Given the description of an element on the screen output the (x, y) to click on. 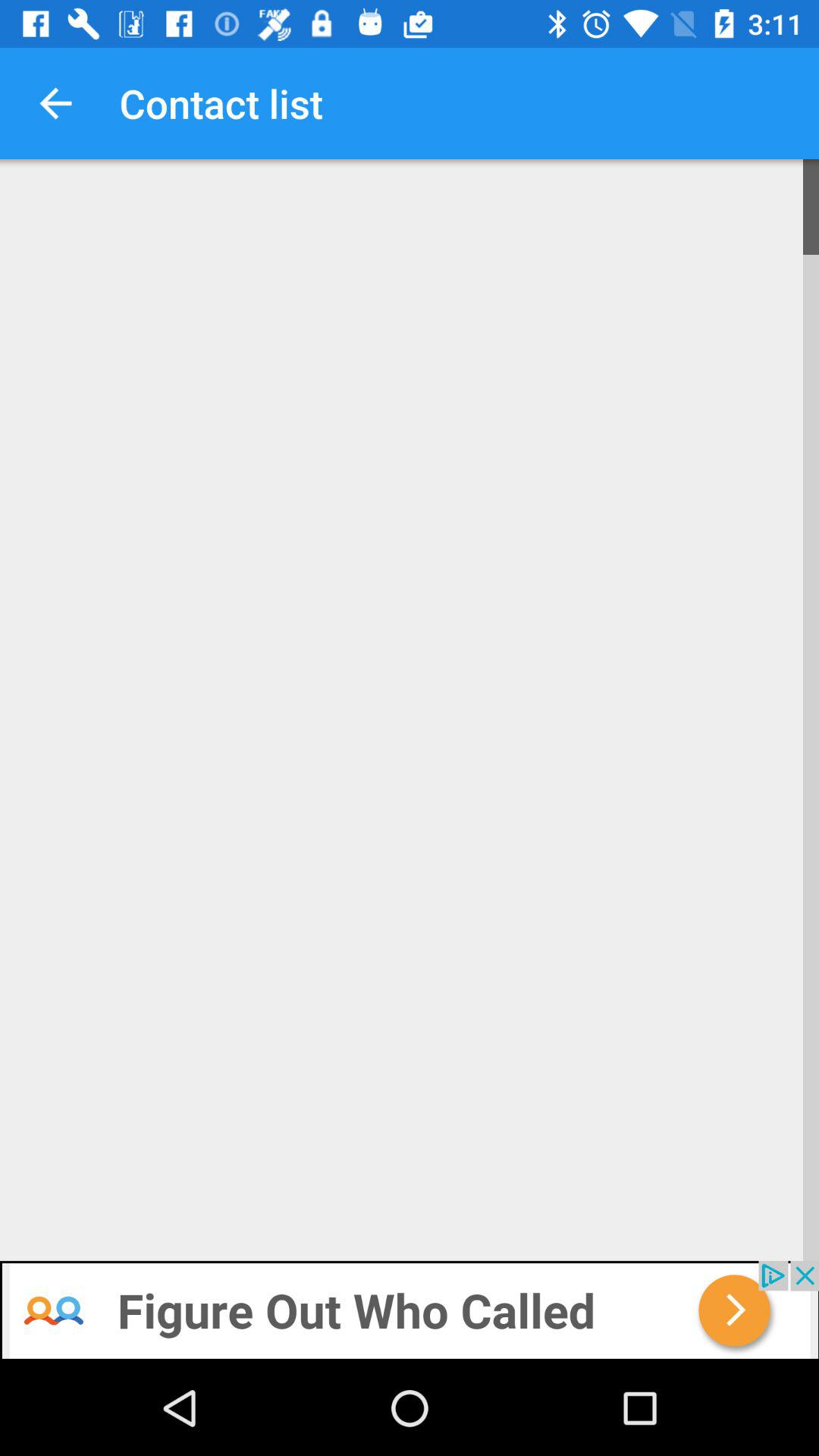
banner advertisement (409, 1310)
